Given the description of an element on the screen output the (x, y) to click on. 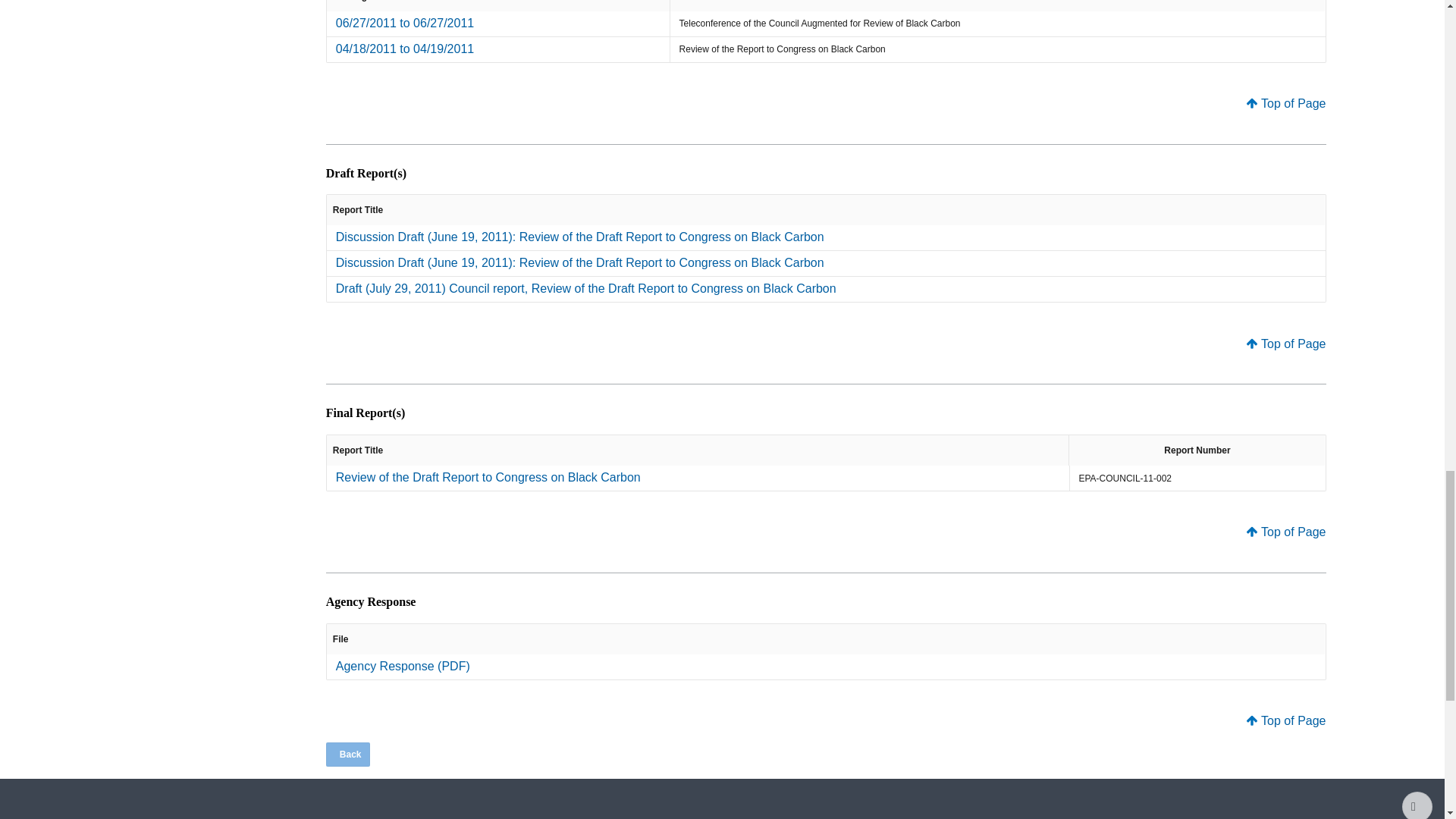
Start of page (1417, 805)
Review of the Draft Report to Congress on Black Carbon 2MB (488, 477)
